Given the description of an element on the screen output the (x, y) to click on. 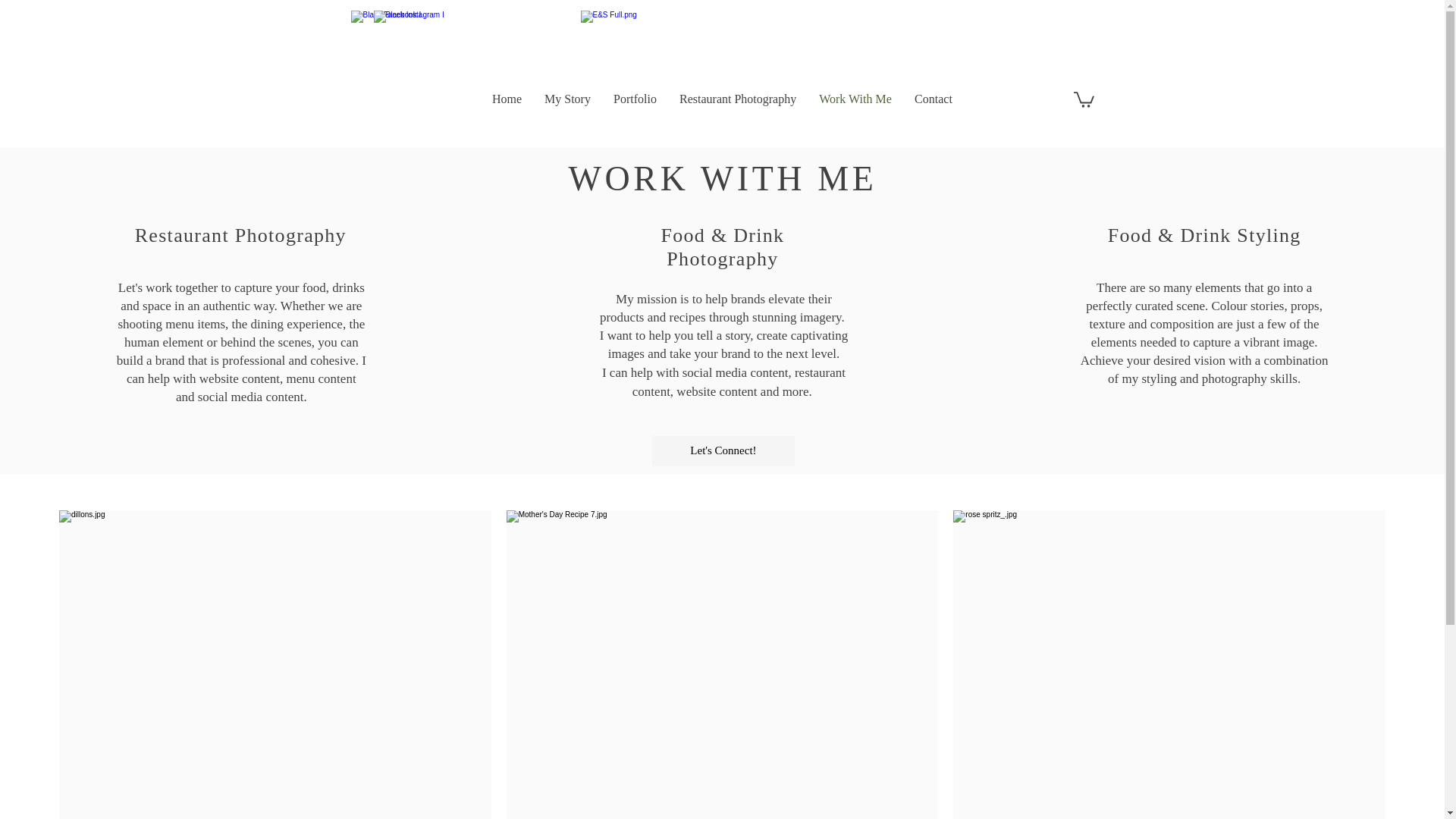
Work With Me (855, 98)
Contact (932, 98)
Portfolio (635, 98)
My Story (567, 98)
Let's Connect! (723, 450)
Home (506, 98)
